Given the description of an element on the screen output the (x, y) to click on. 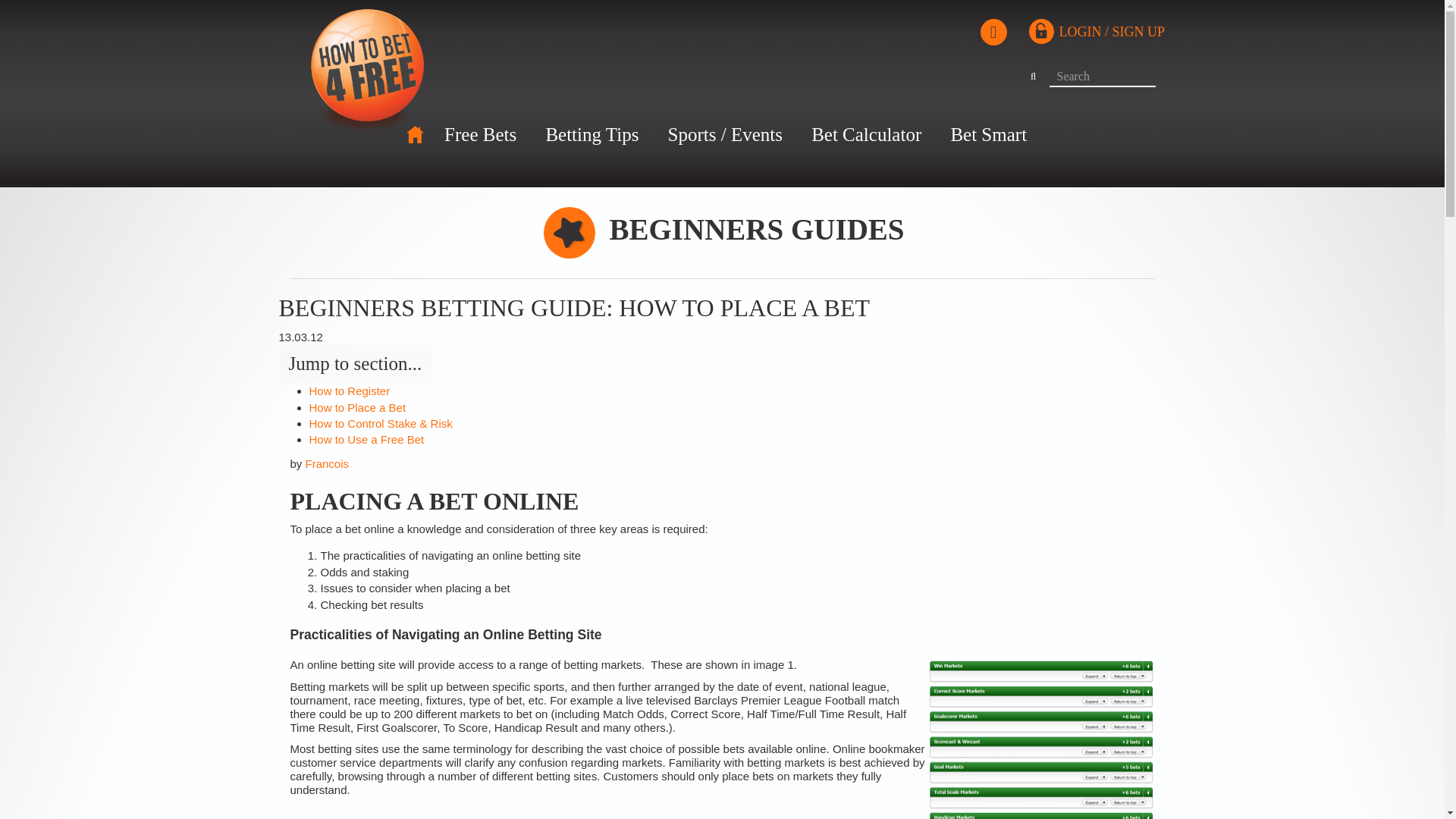
Bet Smart (988, 134)
Bet Calculator (866, 134)
Jump to section... (355, 363)
Home (414, 134)
How to Register (349, 390)
Beginners Betting Guide: How to Register (349, 390)
Beginners Betting Guide: How to Use a Free Bet (366, 439)
Beginners Betting Guide: How to Place a Bet (357, 407)
LOGIN (1079, 31)
